Given the description of an element on the screen output the (x, y) to click on. 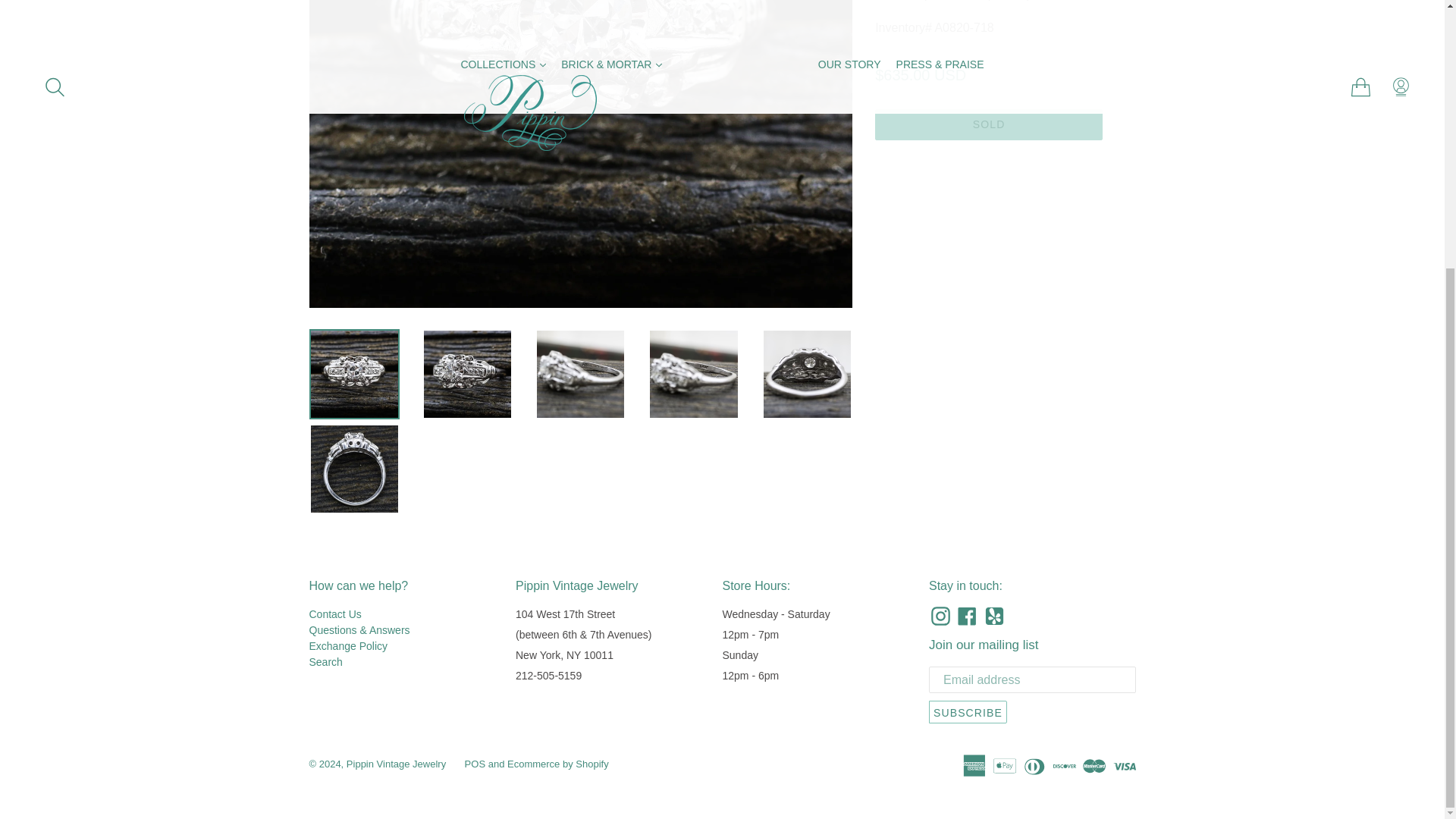
Pippin Vintage Jewelry on Instagram (940, 615)
Pippin Vintage Jewelry on Facebook (966, 615)
Pippin Vintage Jewelry on yelp (994, 615)
